Given the description of an element on the screen output the (x, y) to click on. 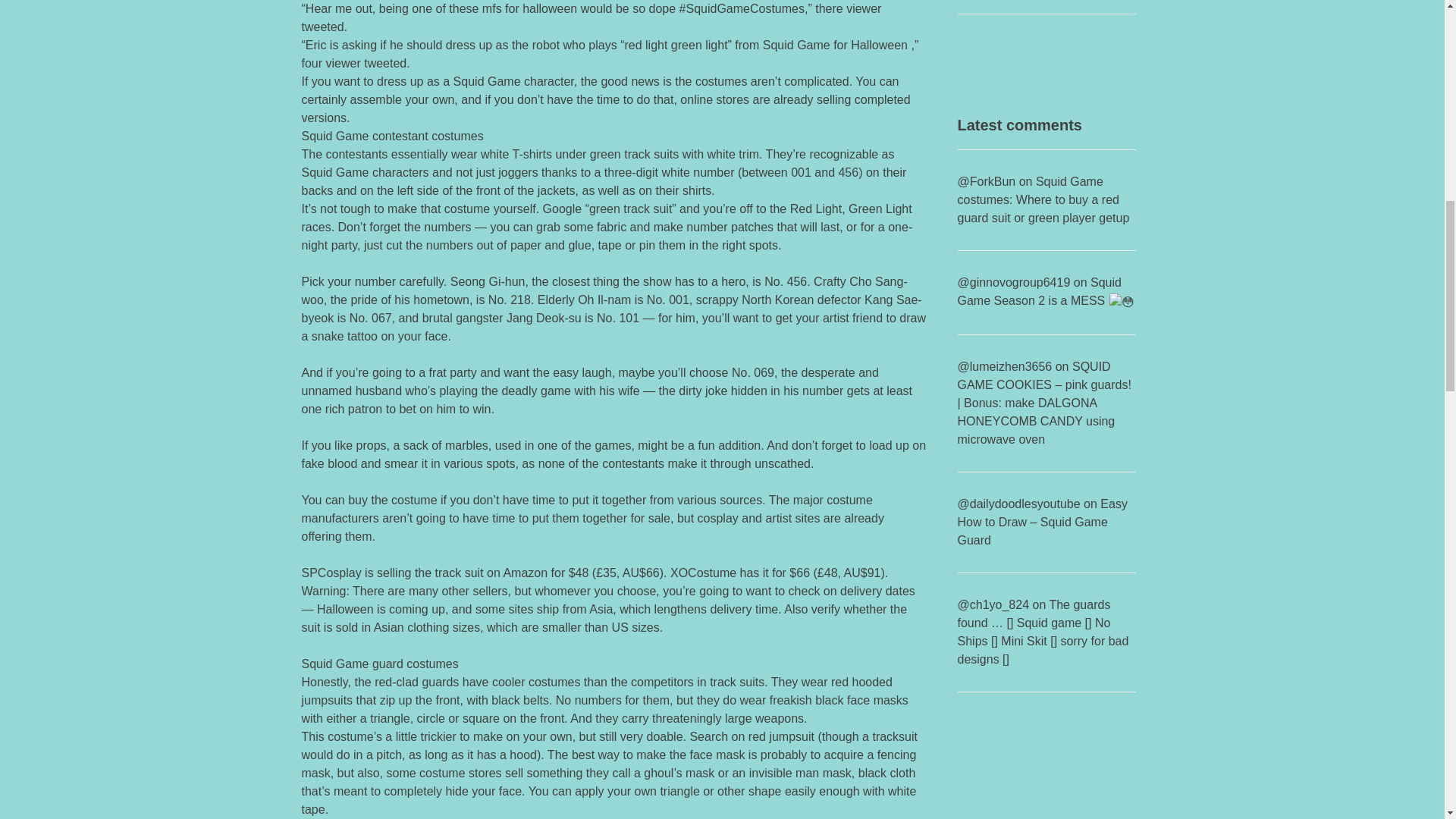
Squid Game Season 2 is a MESS (1045, 291)
